Given the description of an element on the screen output the (x, y) to click on. 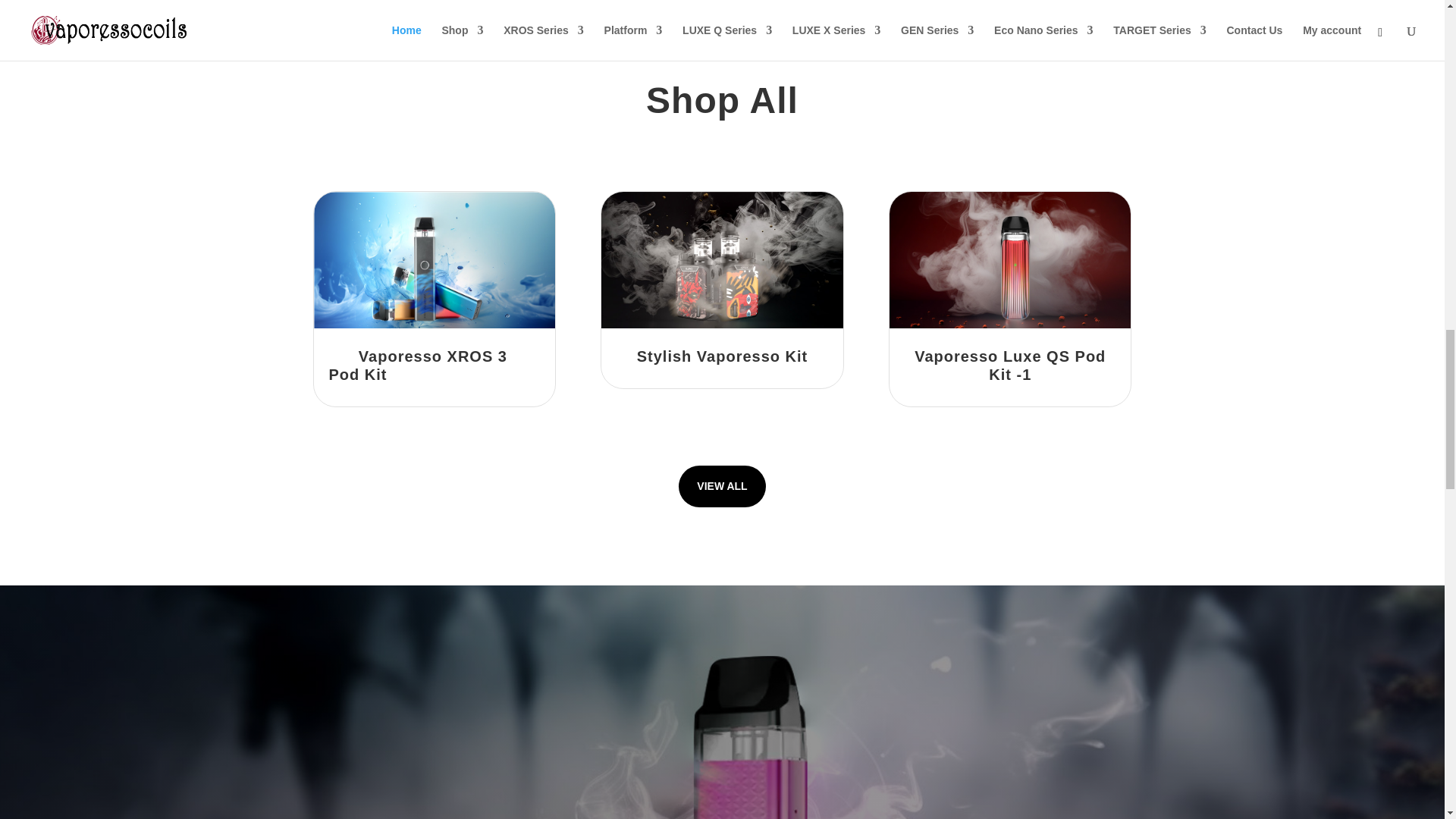
banner6 (434, 259)
banner8 (1010, 259)
banner7 (722, 259)
